Given the description of an element on the screen output the (x, y) to click on. 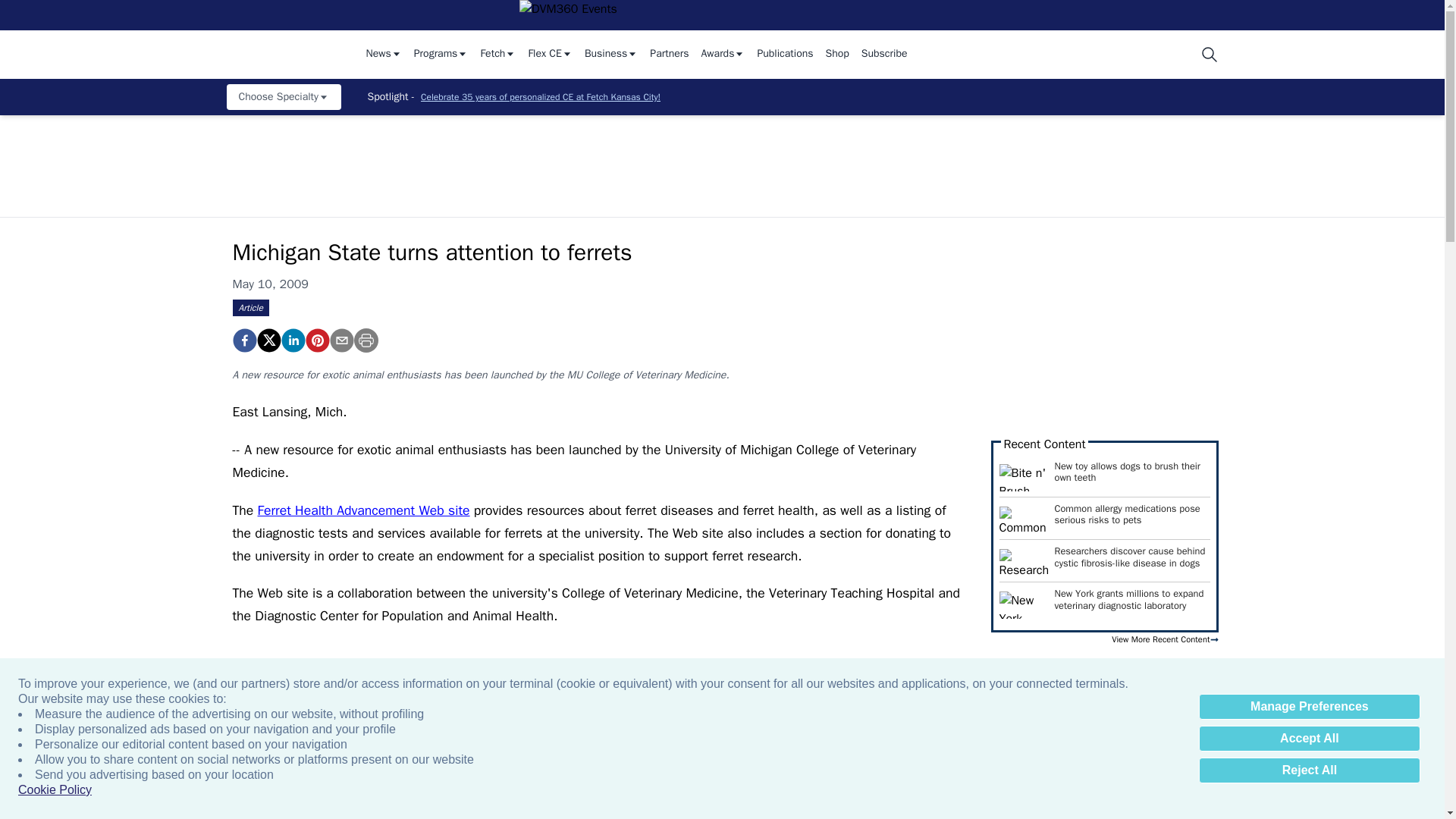
Reject All (1309, 769)
Programs (440, 54)
Michigan State turns attention to ferrets (316, 340)
A dive into Dr Vernard's love for koi fish (671, 787)
News (383, 54)
Overcoming the biggest challenge in avian critical care (999, 787)
Fetch (497, 54)
Making waves in sea turtle conservation  (1326, 787)
Administering anesthesia to lion patients  (343, 787)
Triaging avian emergencies  (507, 787)
Michigan State turns attention to ferrets (243, 340)
Cookie Policy (54, 789)
Managing common avian emergencies (835, 787)
Flex CE (549, 54)
Accept All (1309, 738)
